Given the description of an element on the screen output the (x, y) to click on. 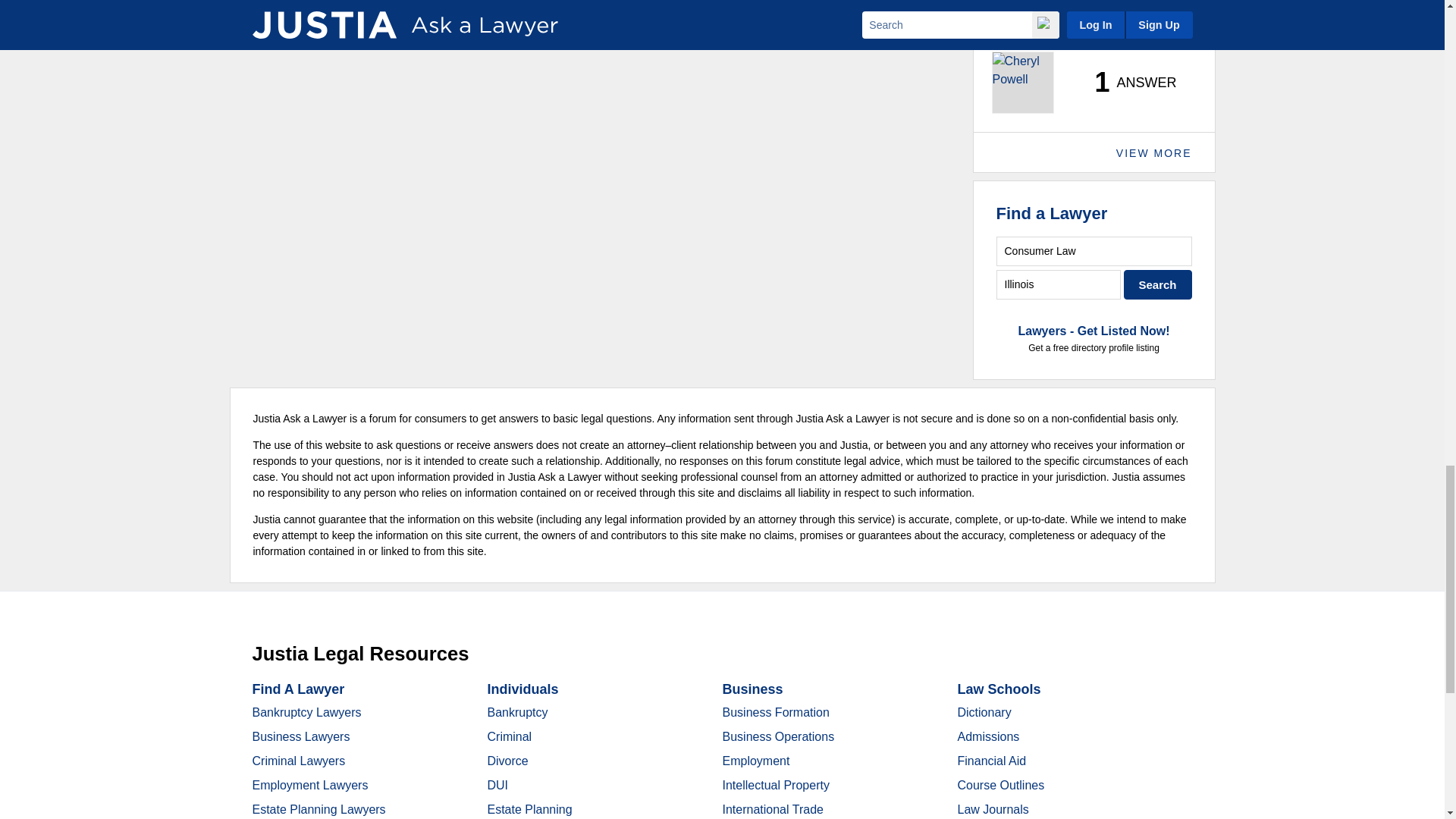
Search (1158, 284)
Ask a Lawyer - Leaderboard - Lawyer Photo (1021, 82)
Ask a Lawyer - Leaderboard - Lawyer Name (1037, 34)
Search (1158, 284)
Legal Issue or Lawyer Name (1093, 251)
City, State (1058, 284)
Consumer Law (1093, 251)
Ask a Lawyer - Leaderboard - Lawyer Stats (1127, 82)
Illinois (1058, 284)
